Given the description of an element on the screen output the (x, y) to click on. 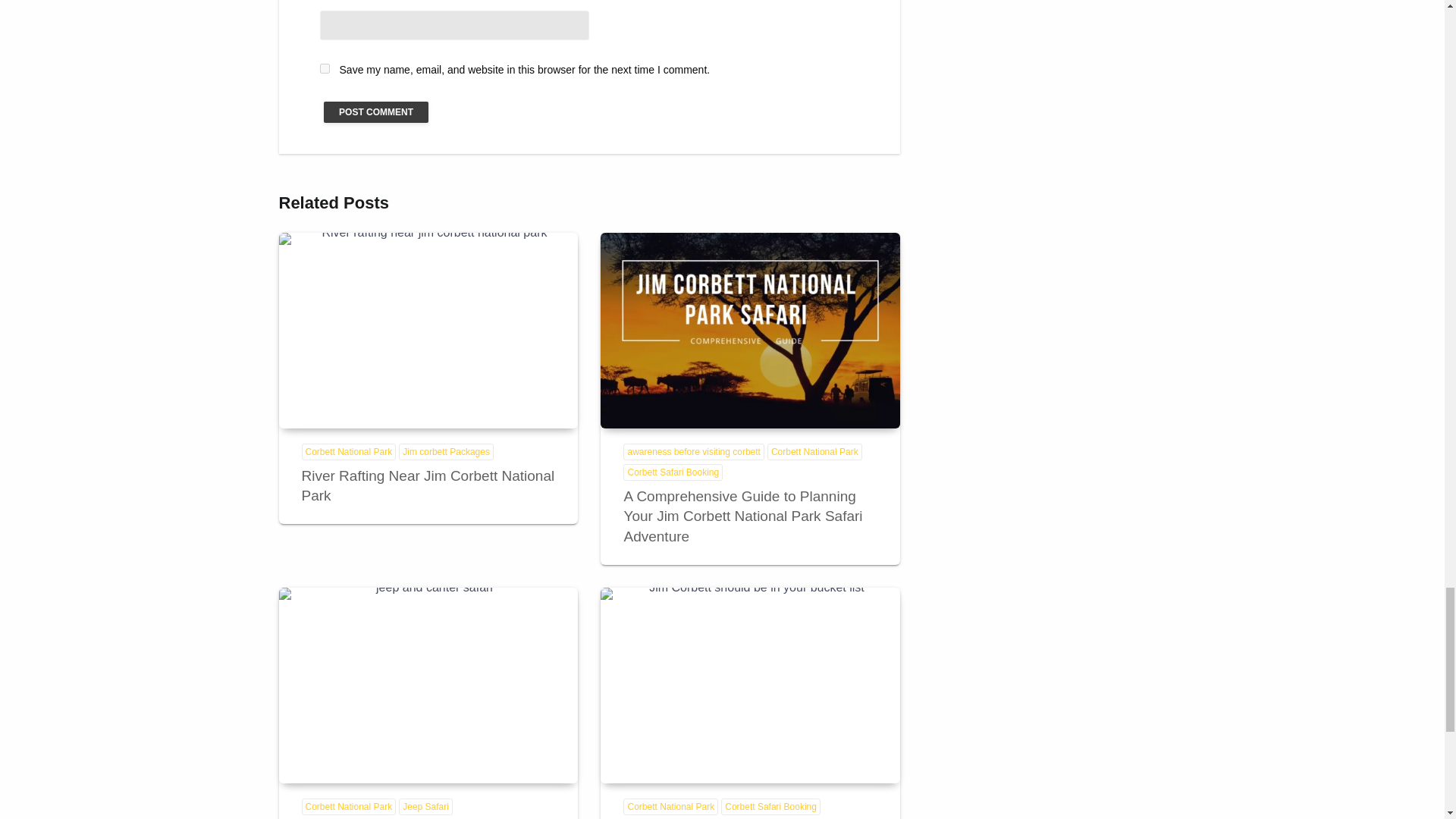
River Rafting Near Jim Corbett National Park (428, 330)
Jim corbett Packages (445, 451)
Corbett National Park (348, 451)
yes (325, 68)
Post Comment (375, 111)
Post Comment (375, 111)
